Given the description of an element on the screen output the (x, y) to click on. 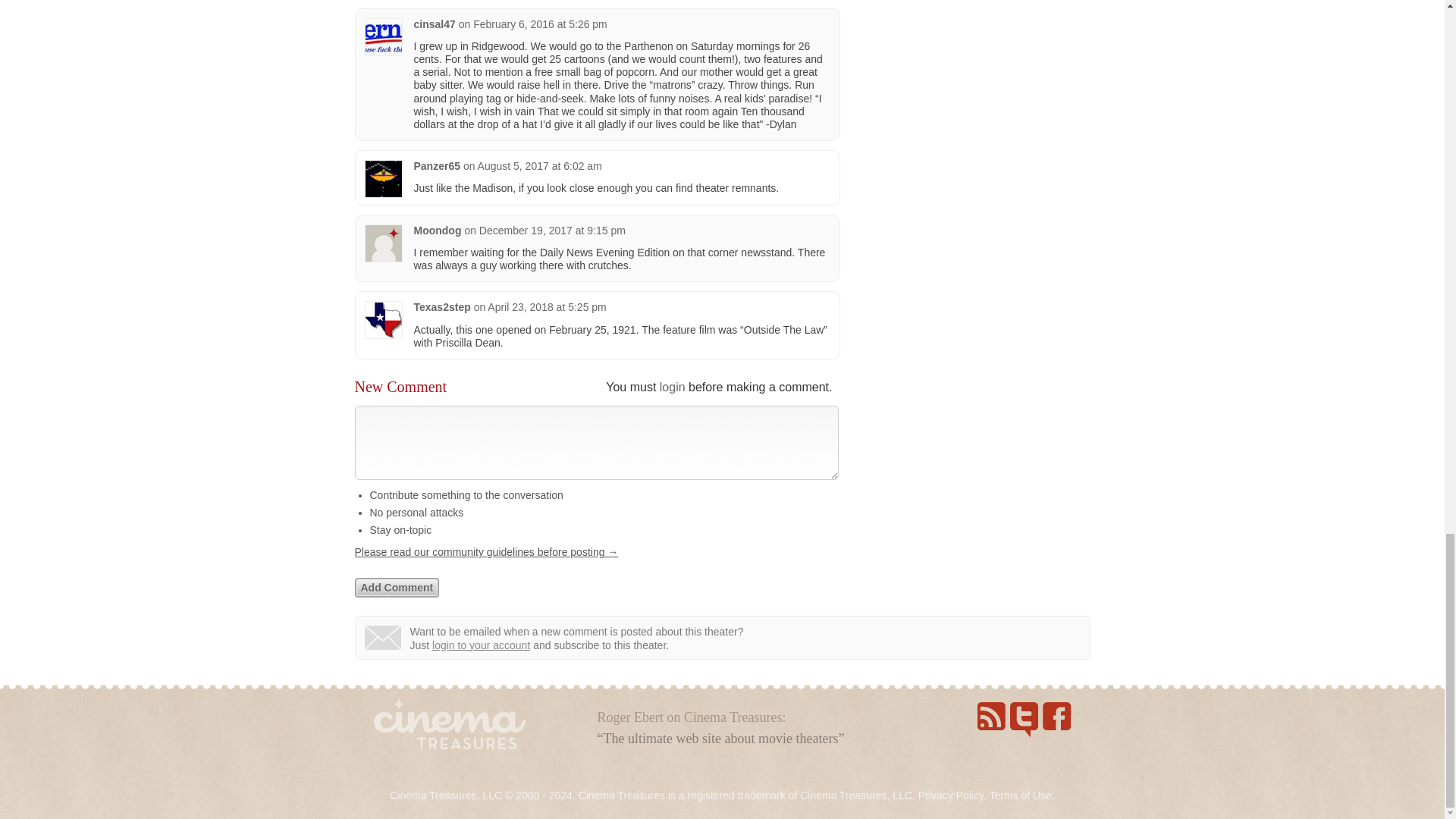
Add Comment (397, 588)
